Given the description of an element on the screen output the (x, y) to click on. 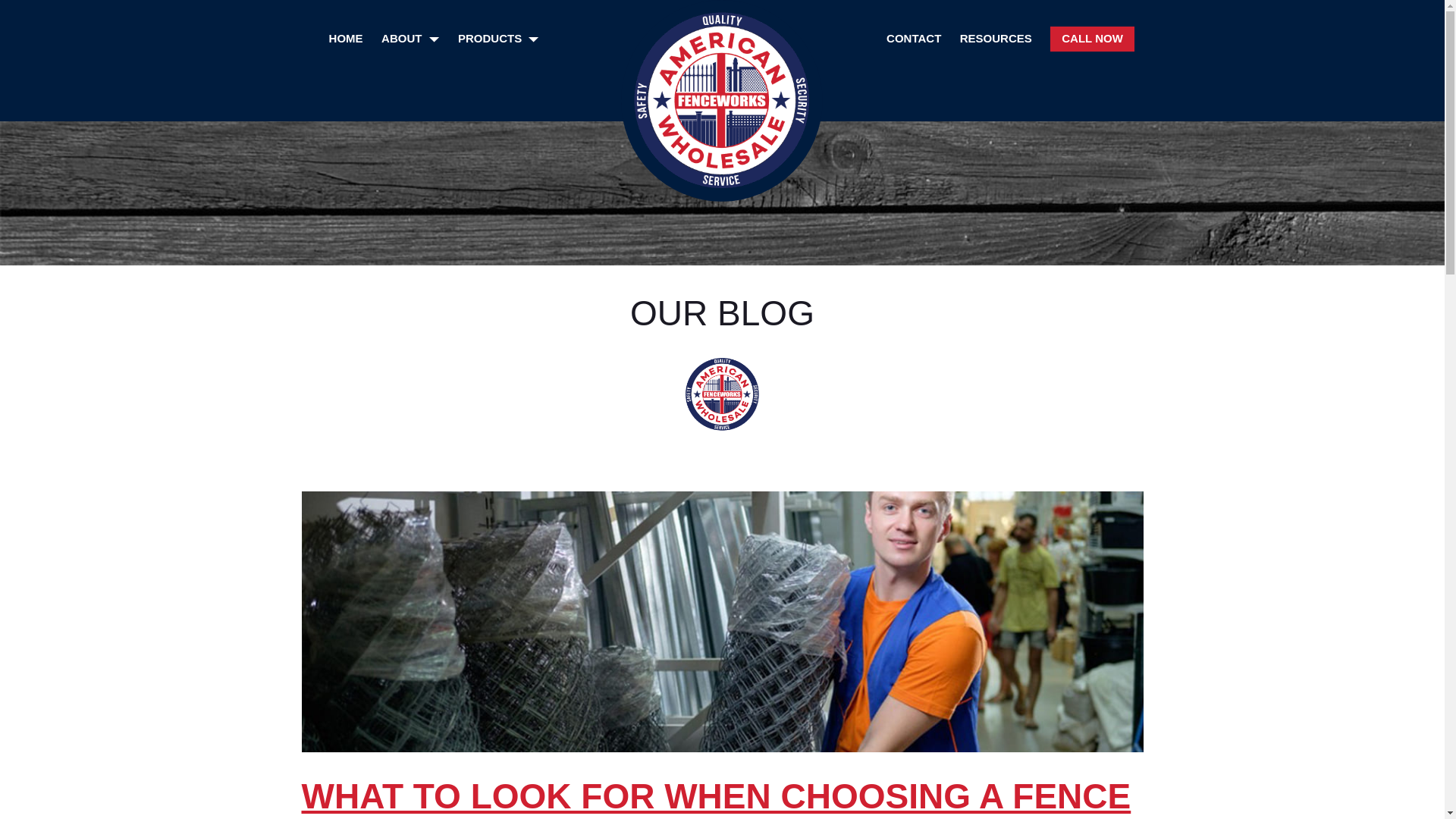
RESOURCES (995, 37)
CALL NOW (1091, 38)
American Wholesale Fenceworks (678, 26)
PRODUCTS (498, 37)
